Given the description of an element on the screen output the (x, y) to click on. 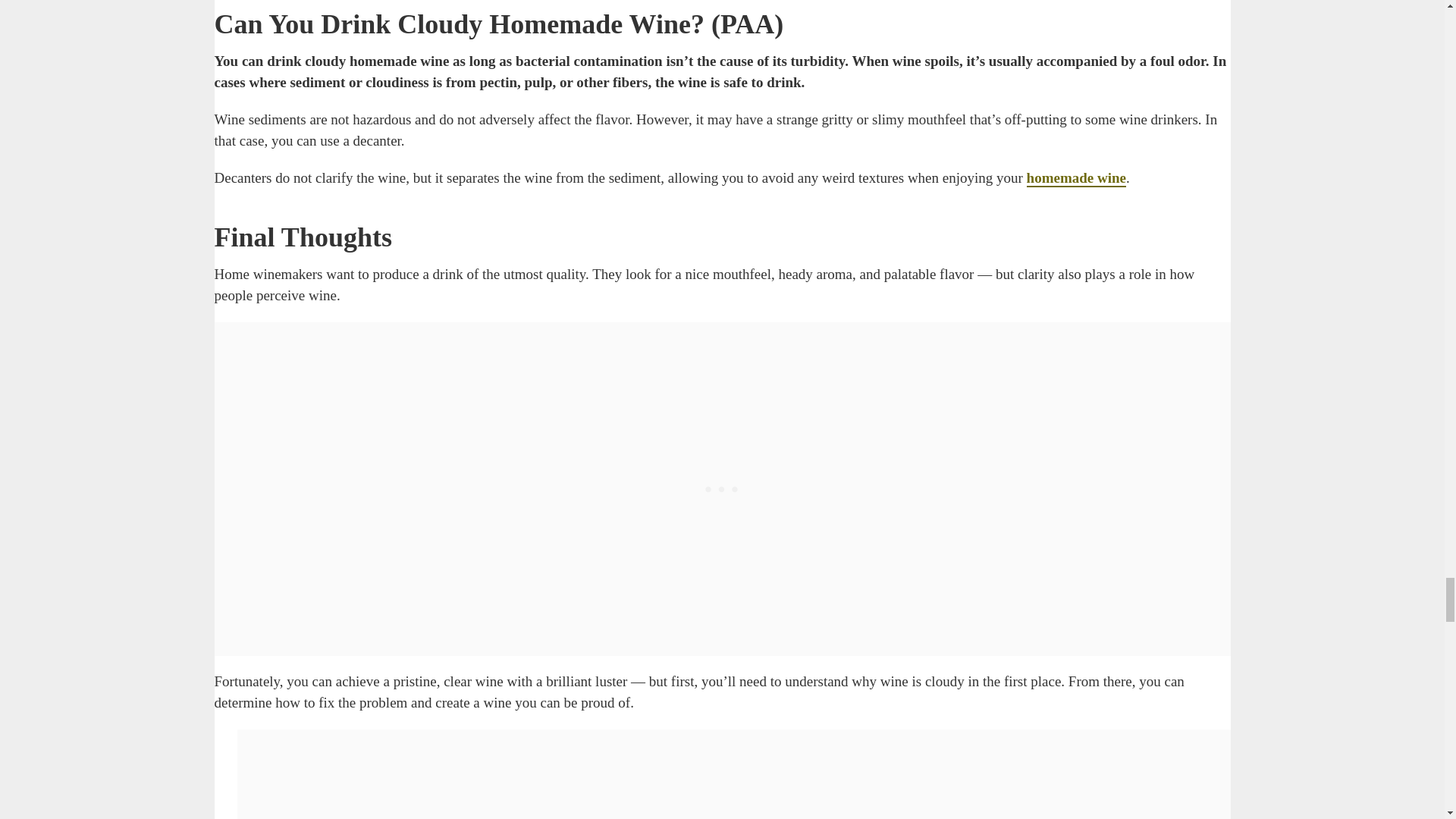
homemade wine (1075, 178)
